Given the description of an element on the screen output the (x, y) to click on. 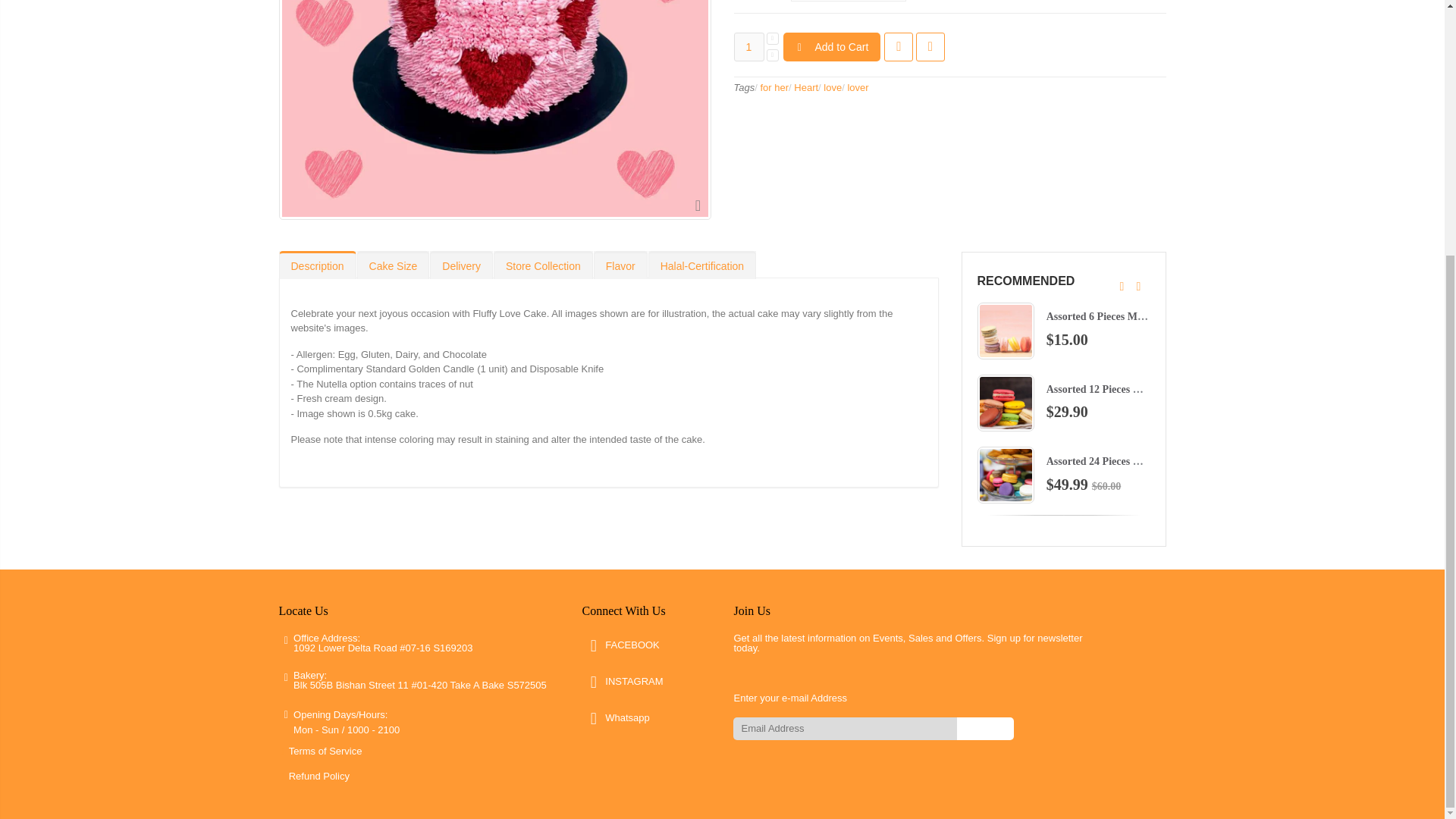
Add to wishlist (897, 46)
Add to compare (929, 46)
Golden Number Candle (927, 389)
Golden Sparkle Candle-20cm (940, 316)
1 (748, 46)
Assorted 6 Pieces Macaron (1107, 316)
